Given the description of an element on the screen output the (x, y) to click on. 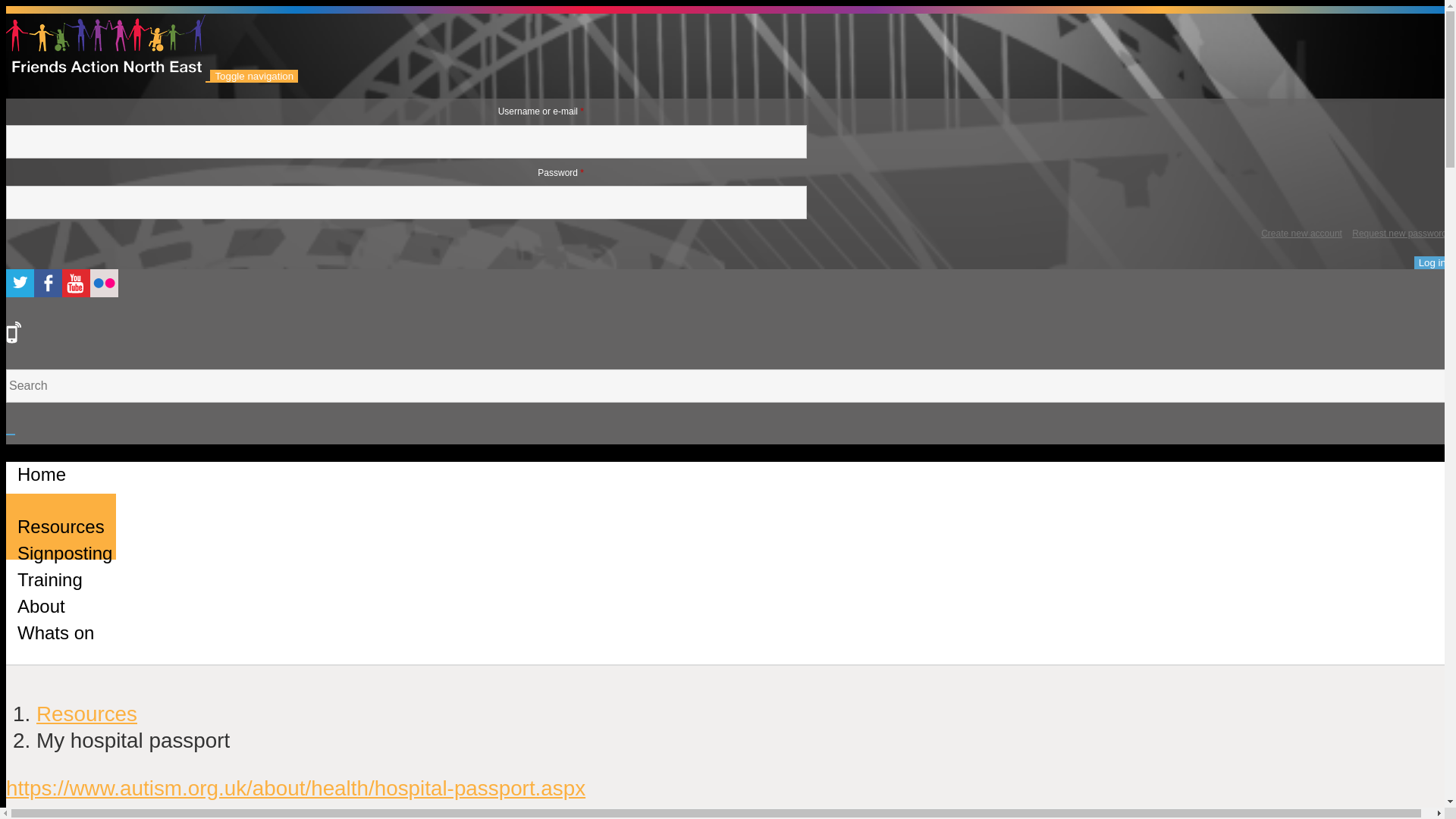
Toggle navigation (253, 75)
Friends Action North East -  (107, 73)
News (39, 500)
Resources (60, 526)
Resources (86, 713)
Training (49, 579)
events in the local area (54, 632)
About (41, 606)
Home (41, 473)
Whats on (54, 632)
Request new password via e-mail. (1399, 233)
Create a new user account. (1301, 233)
Signposting (64, 553)
Request new password (1399, 233)
